Given the description of an element on the screen output the (x, y) to click on. 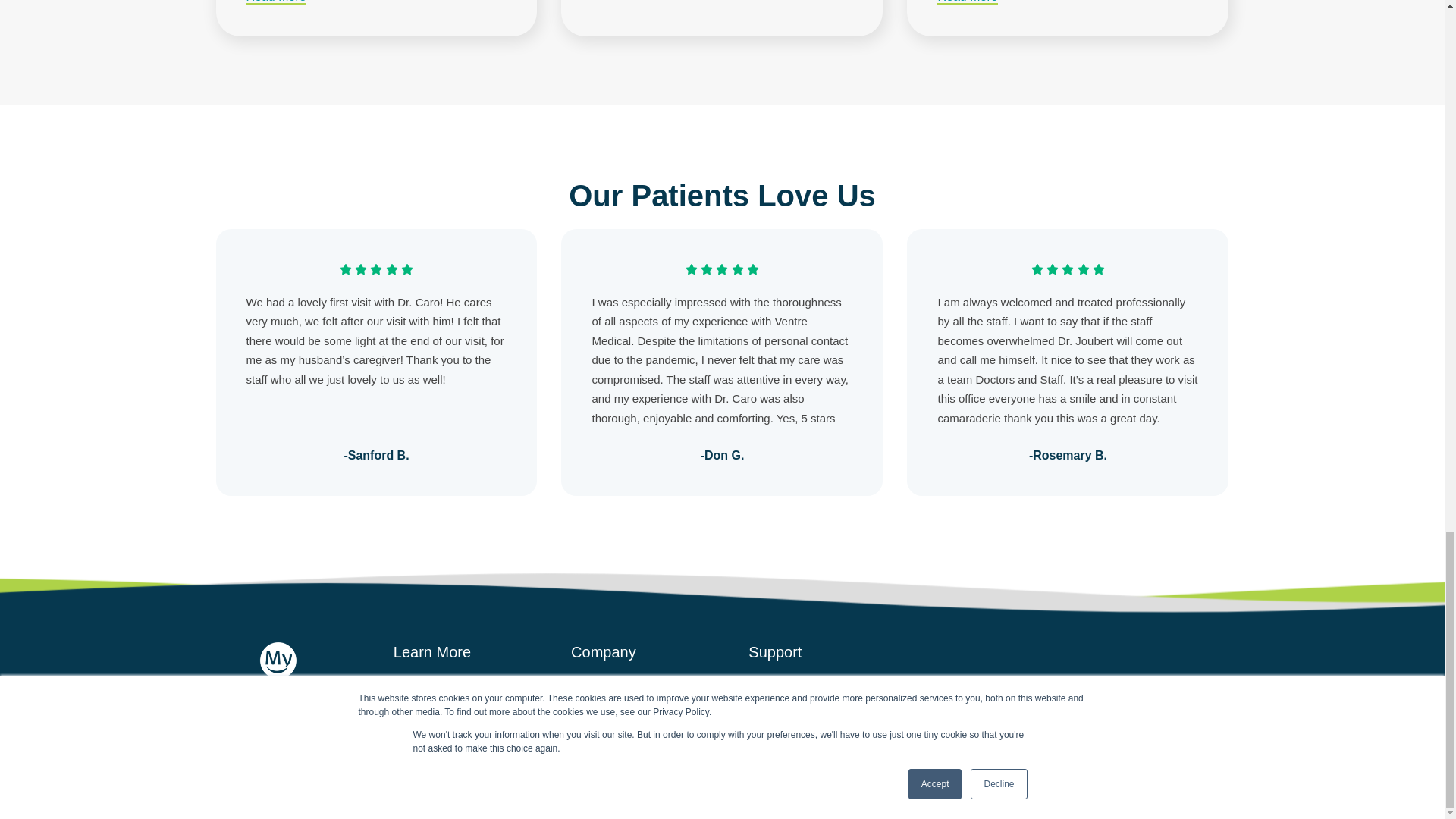
Read More (275, 2)
